Given the description of an element on the screen output the (x, y) to click on. 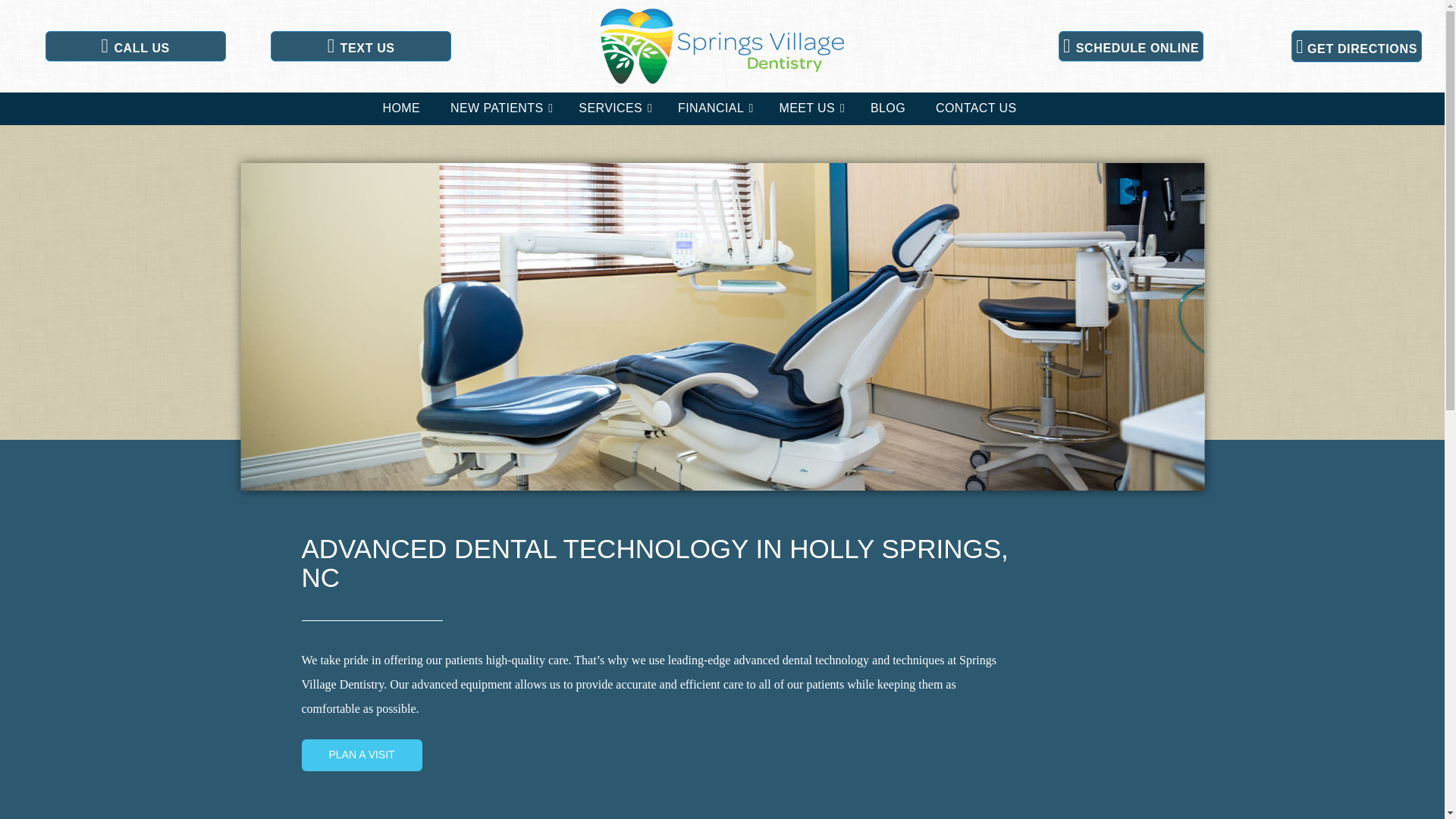
SCHEDULE ONLINE (1131, 46)
HOME (400, 108)
NEW PATIENTS (499, 108)
New Patients (499, 108)
GET DIRECTIONS (1356, 46)
Home (400, 108)
TEXT US (360, 46)
CALL US (135, 46)
Services (612, 108)
252-303-2598 (135, 46)
